Given the description of an element on the screen output the (x, y) to click on. 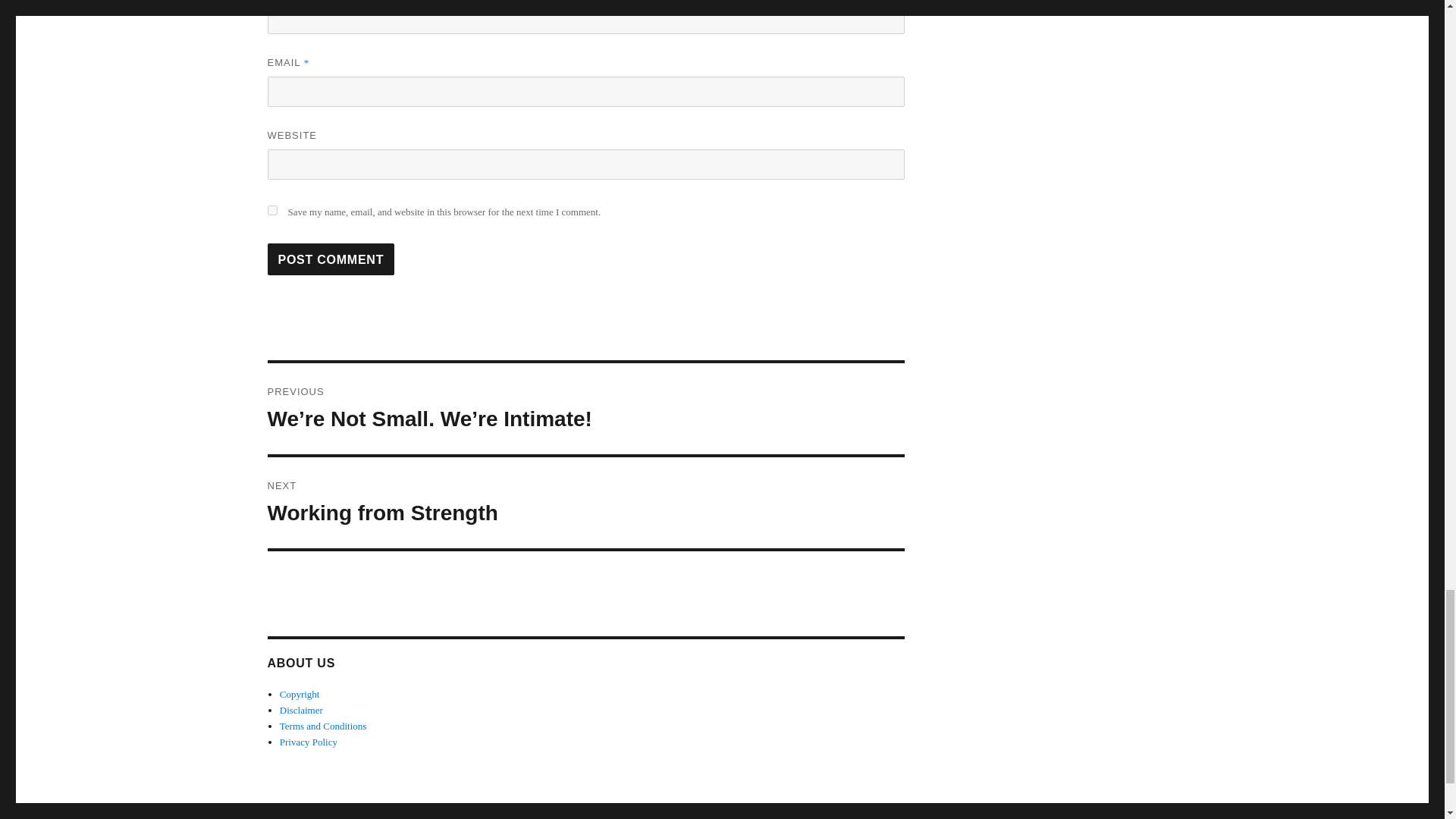
Copyright (585, 502)
Disclaimer (299, 694)
yes (301, 709)
Post Comment (271, 210)
Post Comment (330, 259)
Terms and Conditions (330, 259)
Privacy Policy (322, 726)
